Given the description of an element on the screen output the (x, y) to click on. 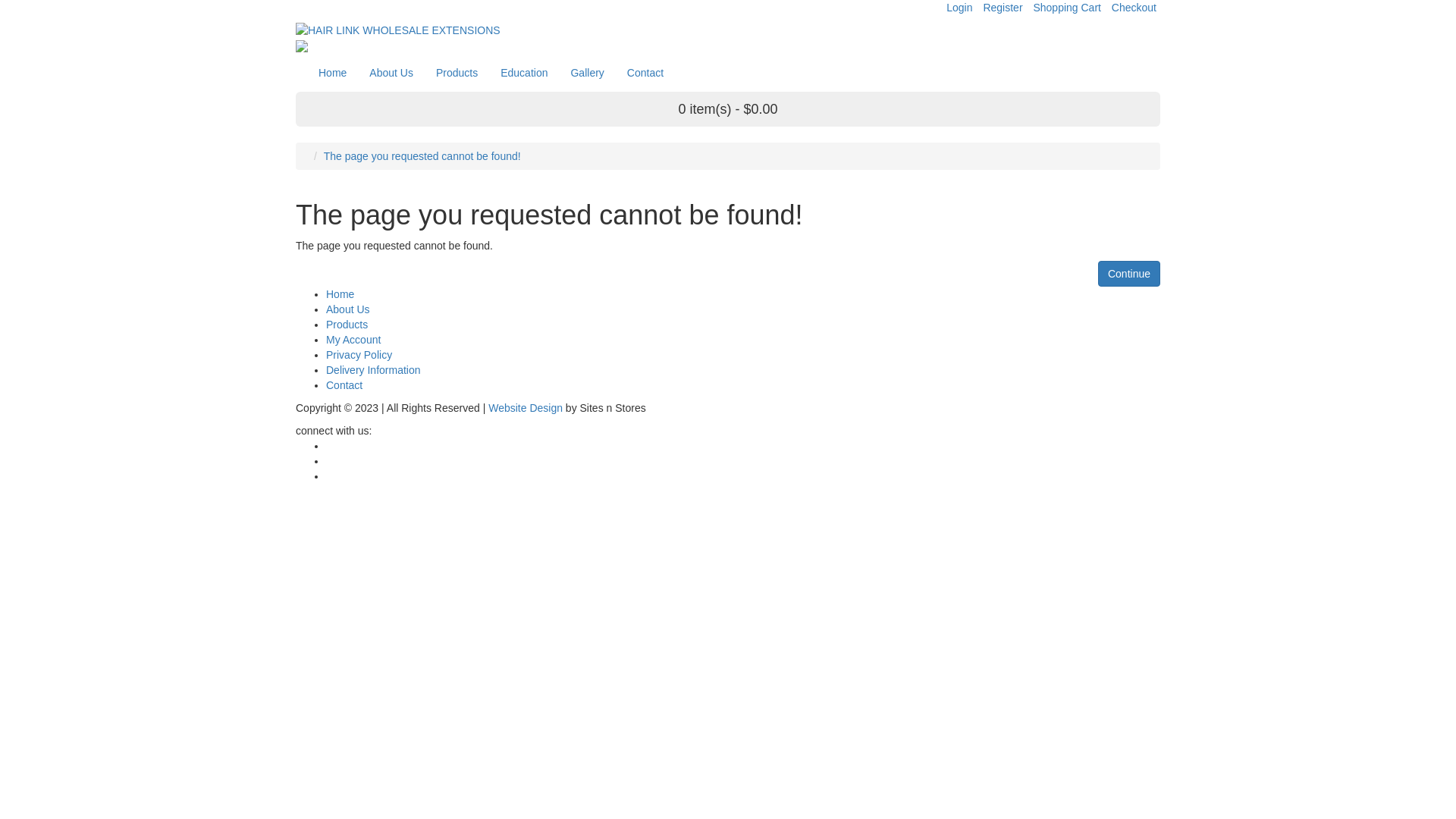
Checkout Element type: text (1133, 7)
Home Element type: text (340, 294)
My Account Element type: text (353, 339)
Products Element type: text (346, 324)
Privacy Policy Element type: text (359, 354)
Education Element type: text (523, 72)
HAIR LINK WHOLESALE EXTENSIONS Element type: hover (727, 29)
Contact Element type: text (344, 385)
Contact Element type: text (644, 72)
Products Element type: text (456, 72)
0 item(s) - $0.00 Element type: text (727, 108)
Gallery Element type: text (586, 72)
About Us Element type: text (348, 309)
The page you requested cannot be found! Element type: text (421, 156)
About Us Element type: text (390, 72)
Continue Element type: text (1129, 273)
Website Design Element type: text (525, 407)
Shopping Cart Element type: text (1066, 7)
Register Element type: text (1002, 7)
Home Element type: text (332, 72)
Login Element type: text (959, 7)
Delivery Information Element type: text (373, 370)
